Given the description of an element on the screen output the (x, y) to click on. 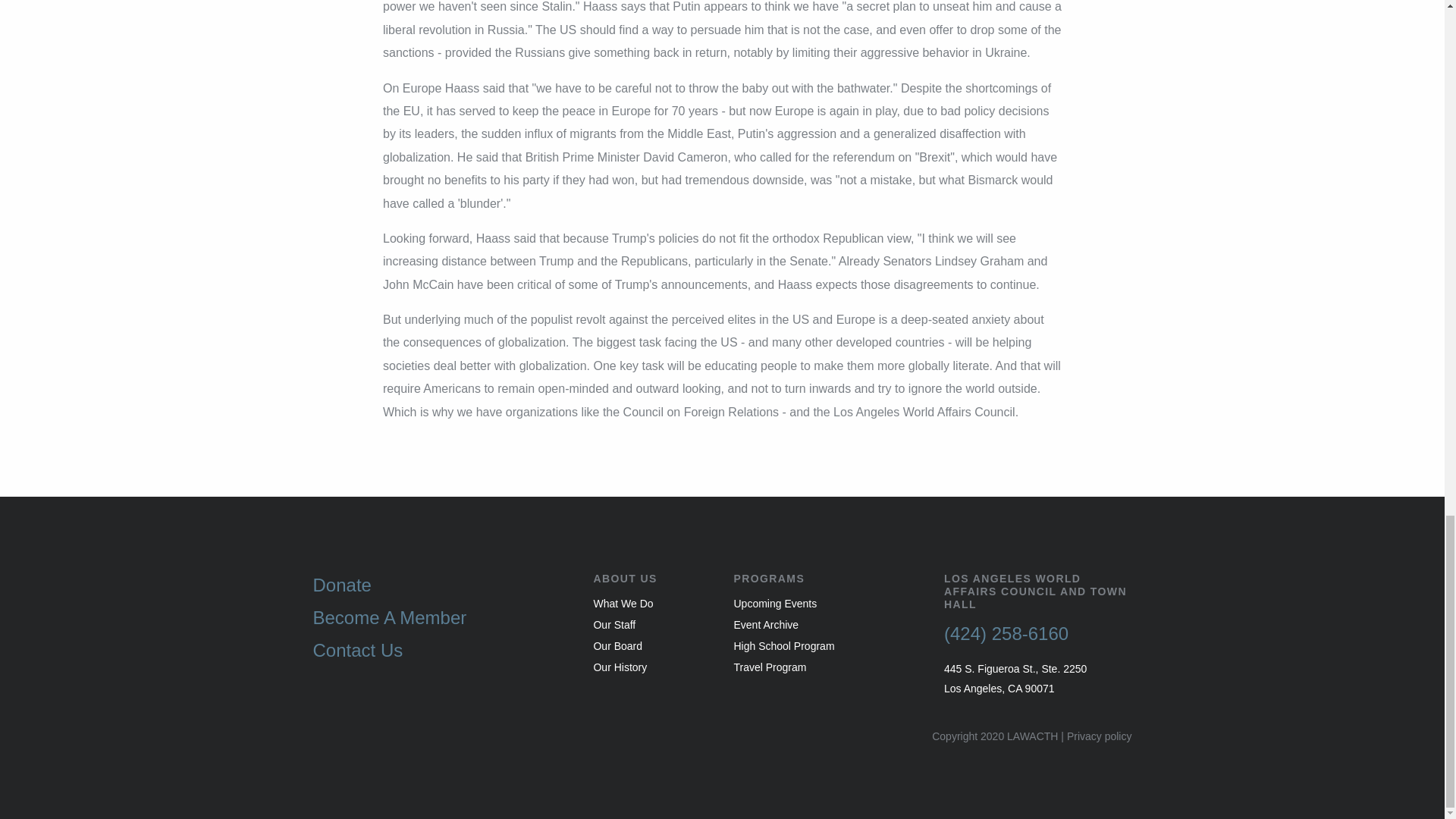
Our Staff (651, 624)
Our History (651, 667)
Contact Us (441, 650)
High School Program (827, 645)
What We Do (651, 603)
Donate (441, 584)
Our Board (651, 645)
Become A Member (441, 617)
Upcoming Events (827, 603)
Event Archive (827, 624)
